Given the description of an element on the screen output the (x, y) to click on. 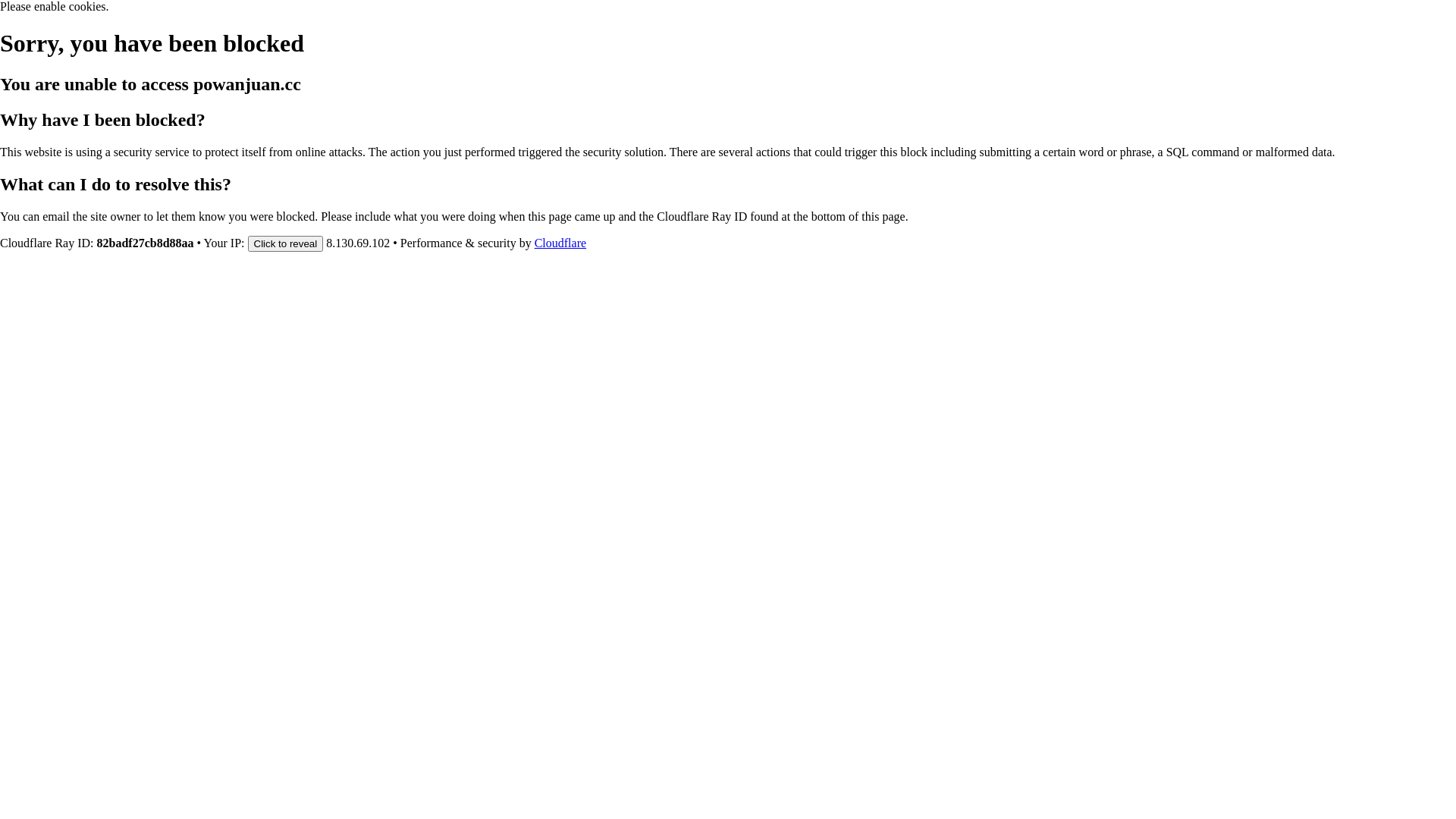
Cloudflare Element type: text (560, 242)
Click to reveal Element type: text (285, 243)
